Given the description of an element on the screen output the (x, y) to click on. 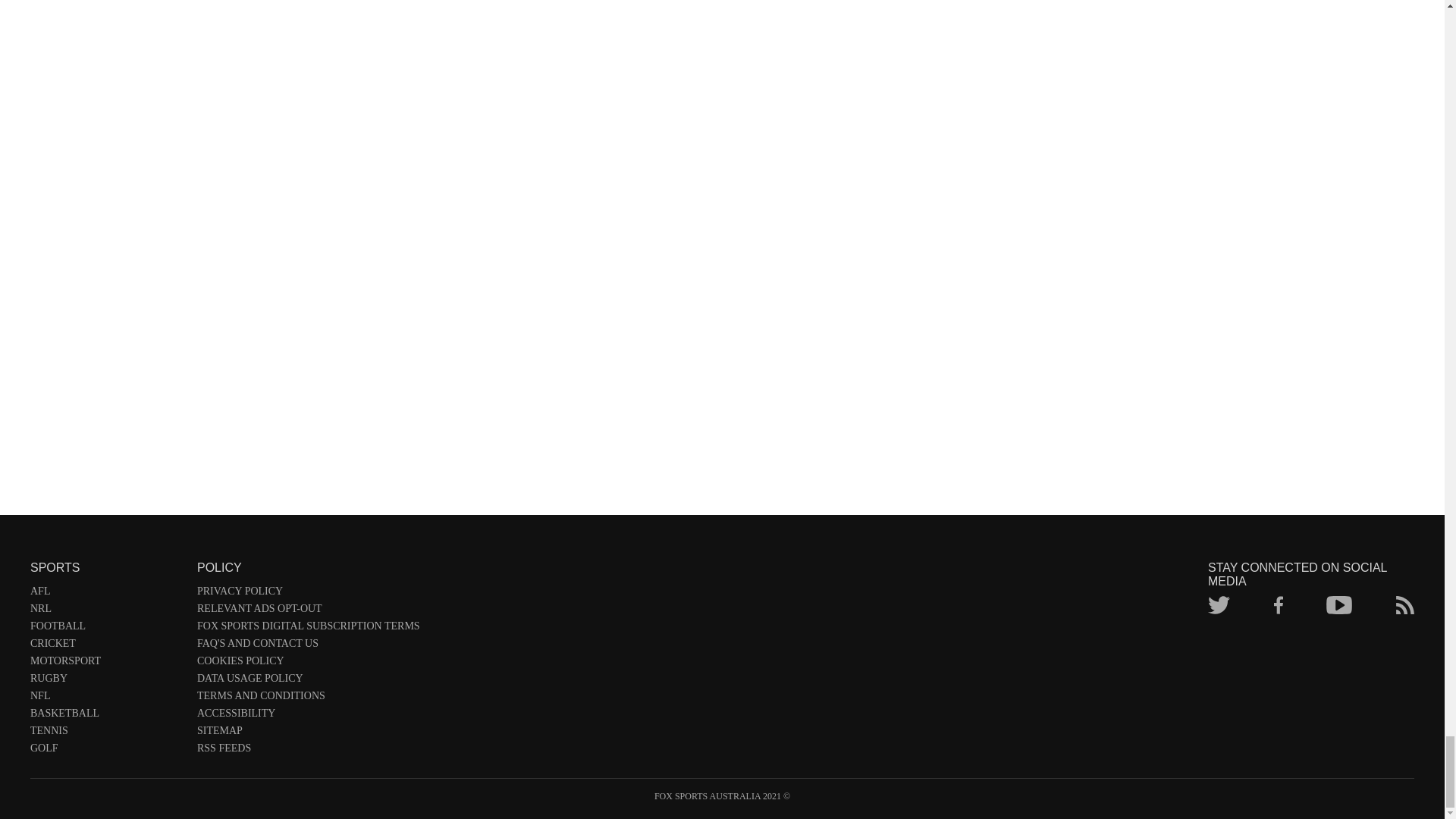
TERMS AND CONDITIONS (308, 698)
AFL (106, 593)
SITEMAP (308, 733)
FAQ'S AND CONTACT US (308, 646)
NFL (106, 698)
MOTORSPORT (106, 663)
RELEVANT ADS OPT-OUT (308, 610)
FOX SPORTS DIGITAL SUBSCRIPTION TERMS (308, 628)
TENNIS (106, 733)
DATA USAGE POLICY (308, 681)
COOKIES POLICY (308, 663)
GOLF (106, 751)
RUGBY (106, 681)
FOOTBALL (106, 628)
BASKETBALL (106, 715)
